Given the description of an element on the screen output the (x, y) to click on. 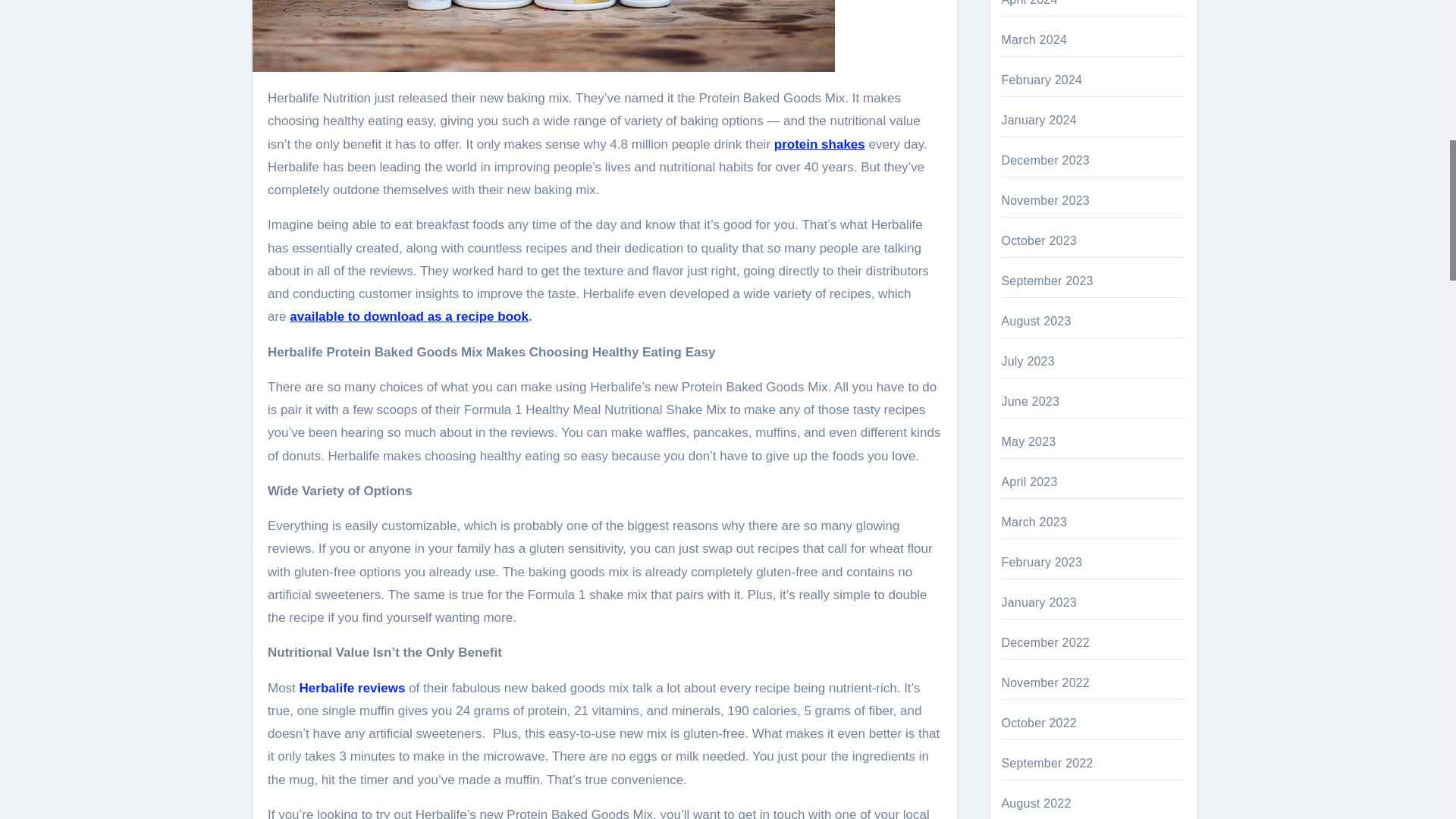
Herbalife reviews (352, 687)
protein shakes (819, 143)
available to download as a recipe book (408, 316)
